Given the description of an element on the screen output the (x, y) to click on. 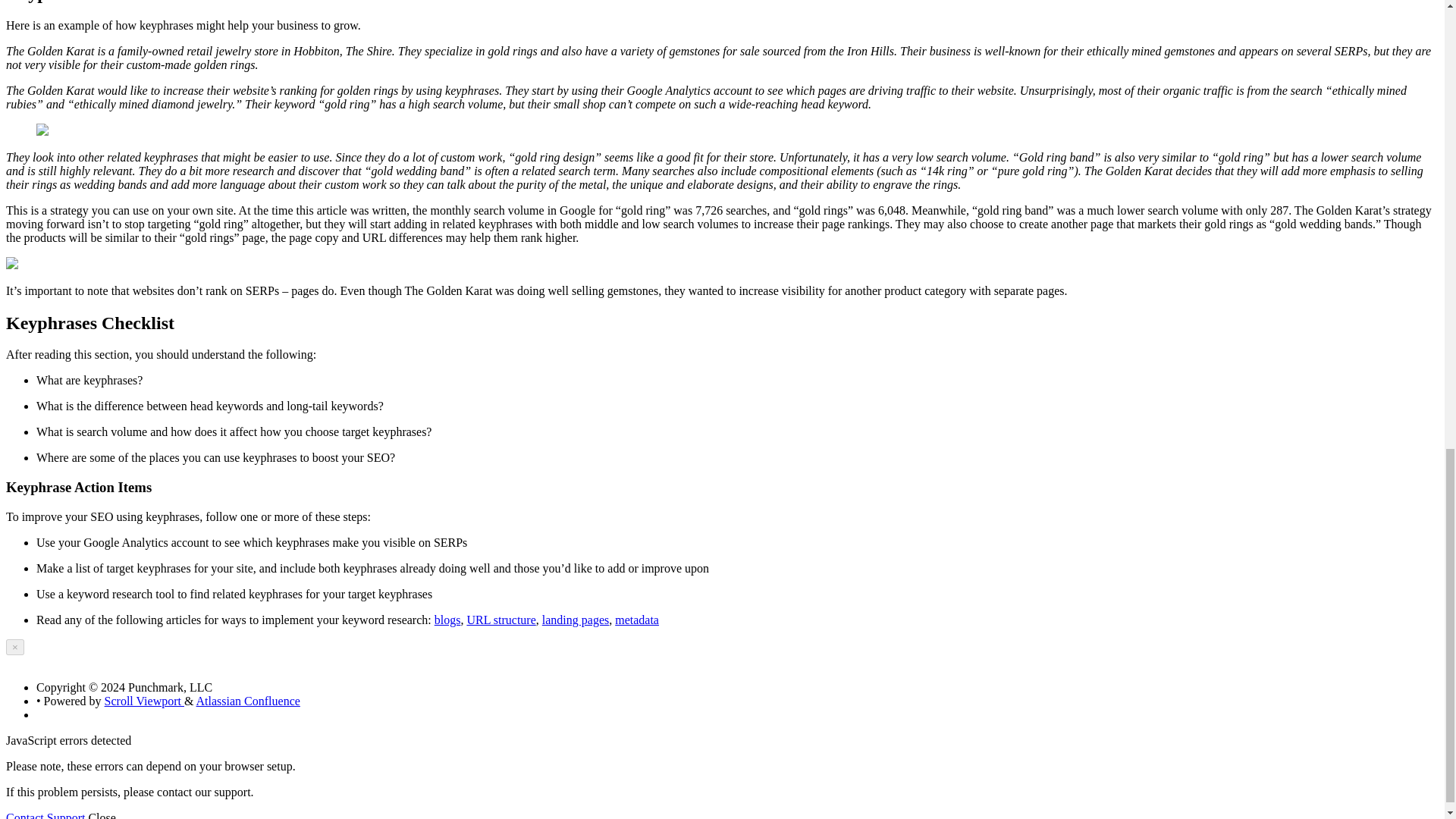
Scroll Viewport (144, 700)
metadata (636, 619)
Atlassian Confluence (247, 700)
landing pages (574, 619)
blogs (447, 619)
Close modal (14, 647)
URL structure (500, 619)
